Given the description of an element on the screen output the (x, y) to click on. 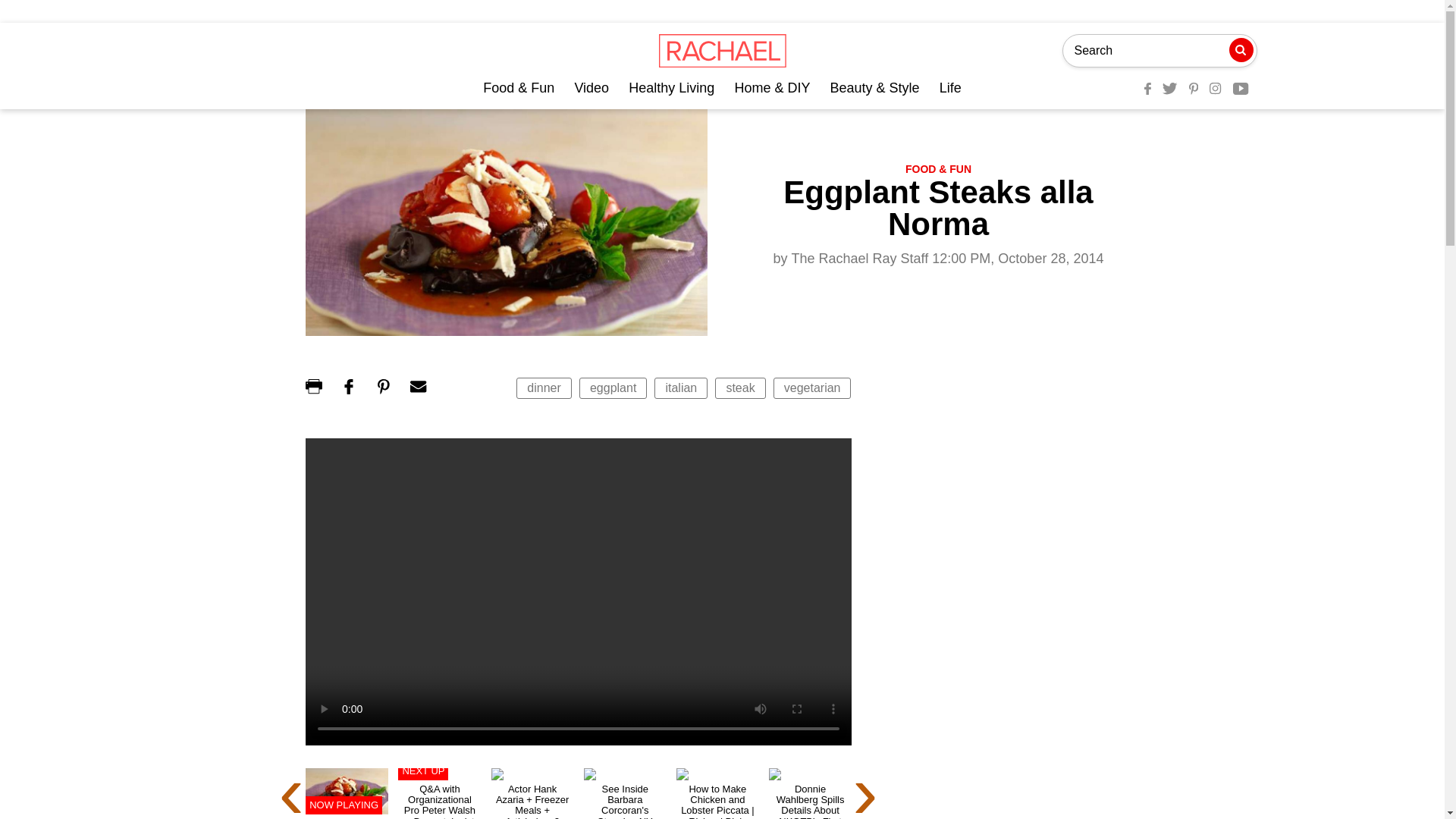
Healthy Living (671, 87)
Life (950, 87)
Video (590, 87)
